Given the description of an element on the screen output the (x, y) to click on. 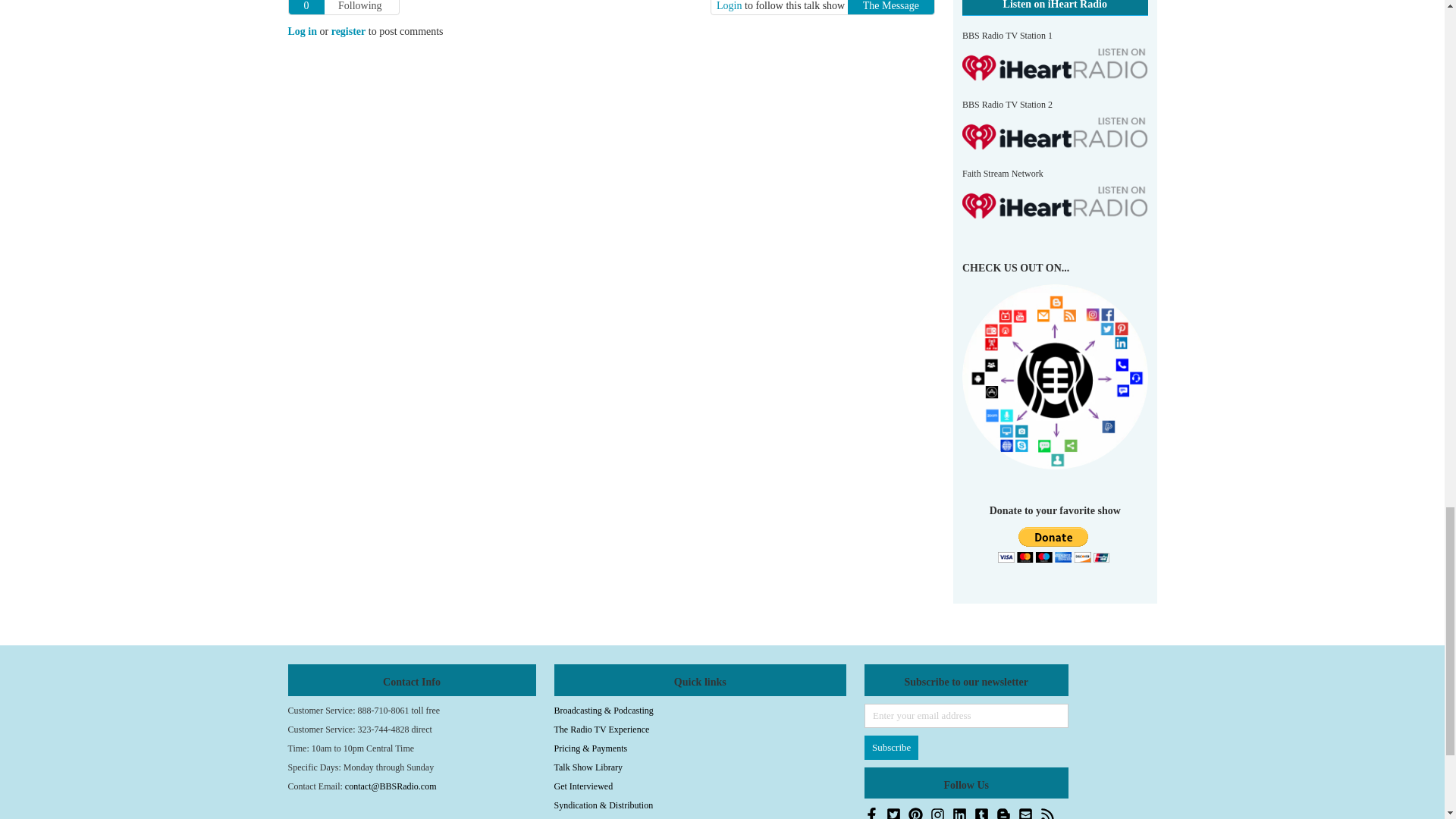
Subscribe (891, 747)
